Given the description of an element on the screen output the (x, y) to click on. 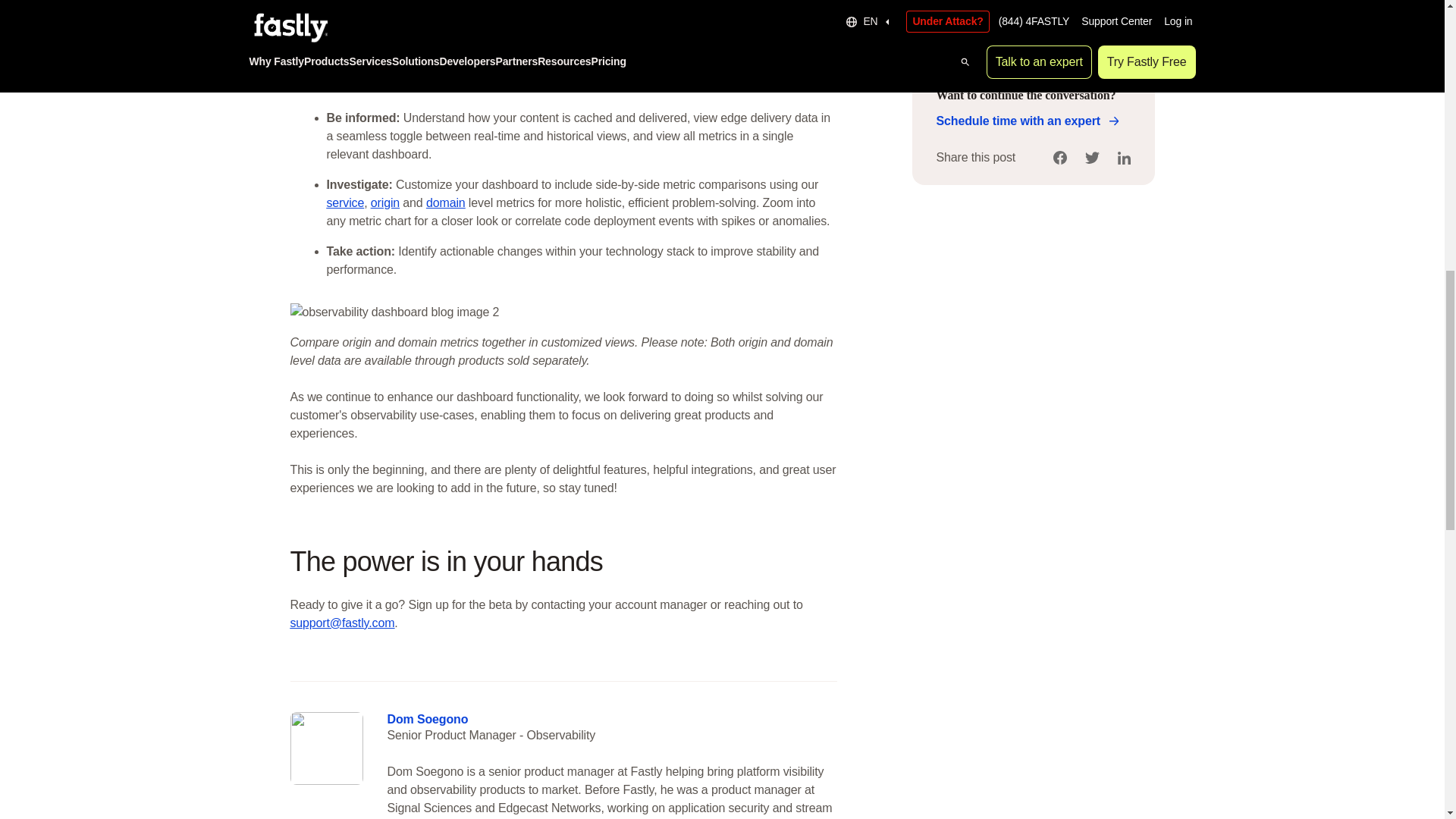
domain (445, 202)
Dom Soegono (427, 718)
service (345, 202)
origin (384, 202)
